Given the description of an element on the screen output the (x, y) to click on. 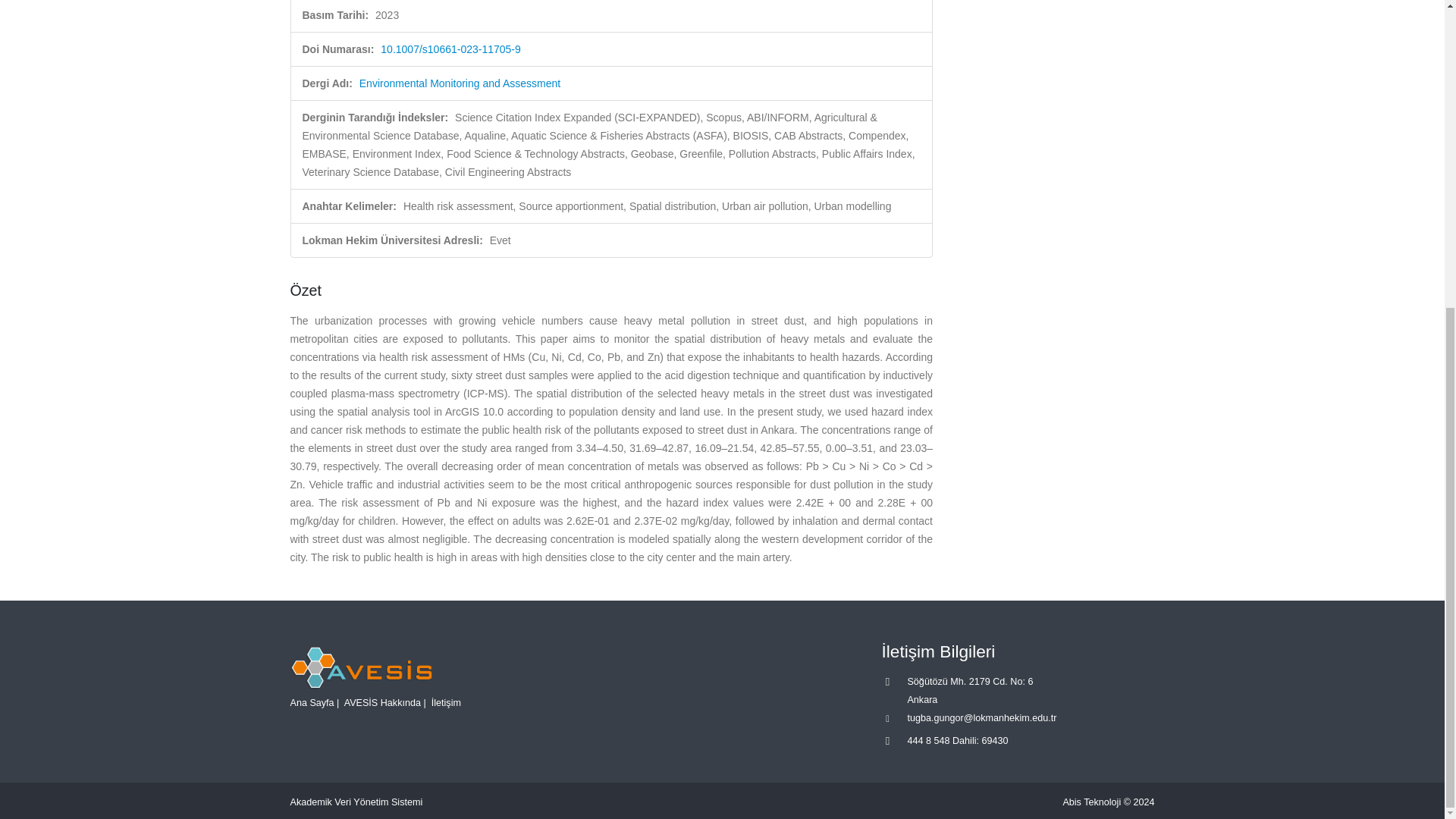
Ana Sayfa (311, 702)
Abis Teknoloji (1091, 801)
Environmental Monitoring and Assessment (459, 82)
444 8 548 Dahili: 69430 (957, 740)
